Given the description of an element on the screen output the (x, y) to click on. 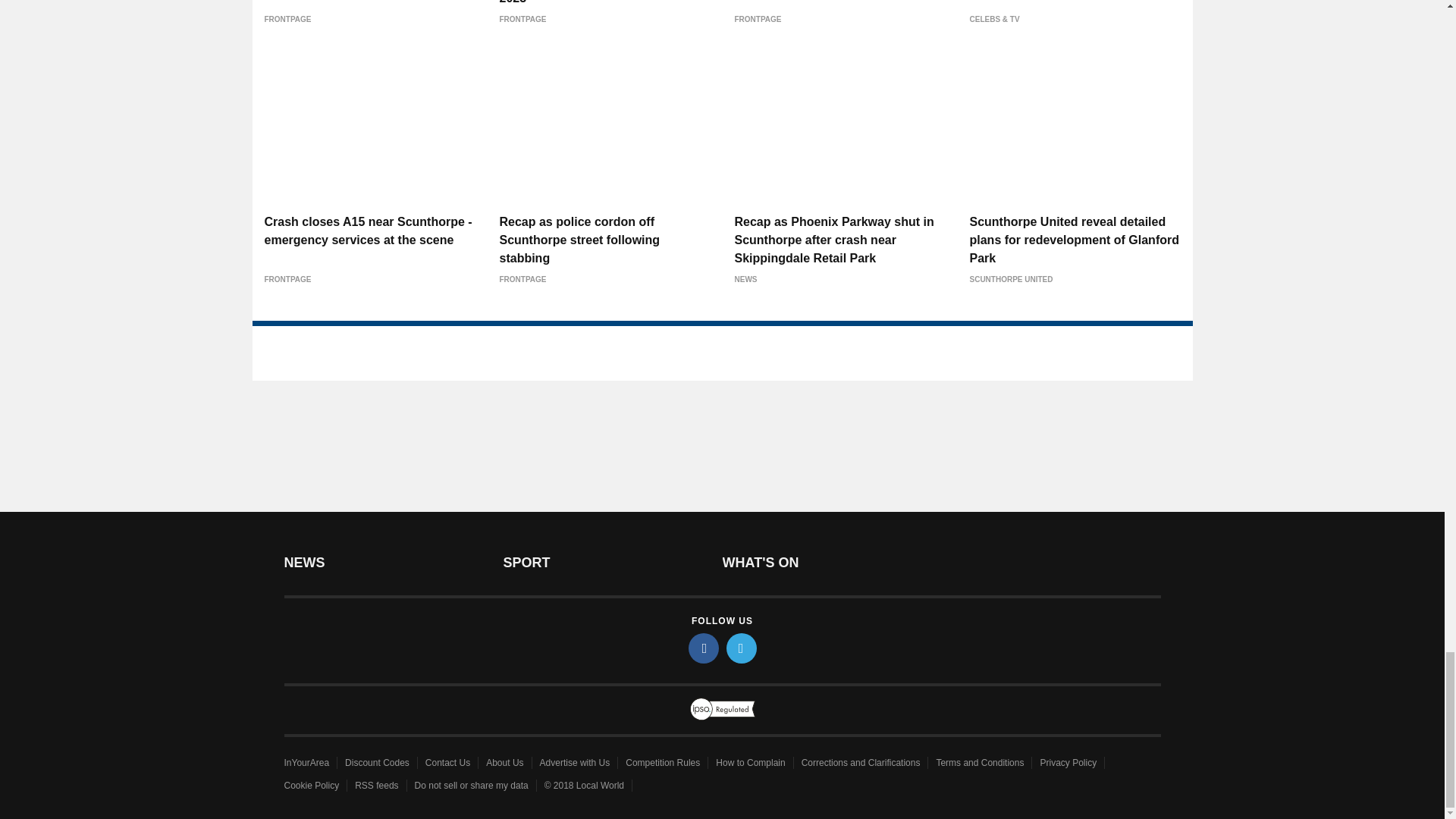
twitter (741, 648)
facebook (703, 648)
